Given the description of an element on the screen output the (x, y) to click on. 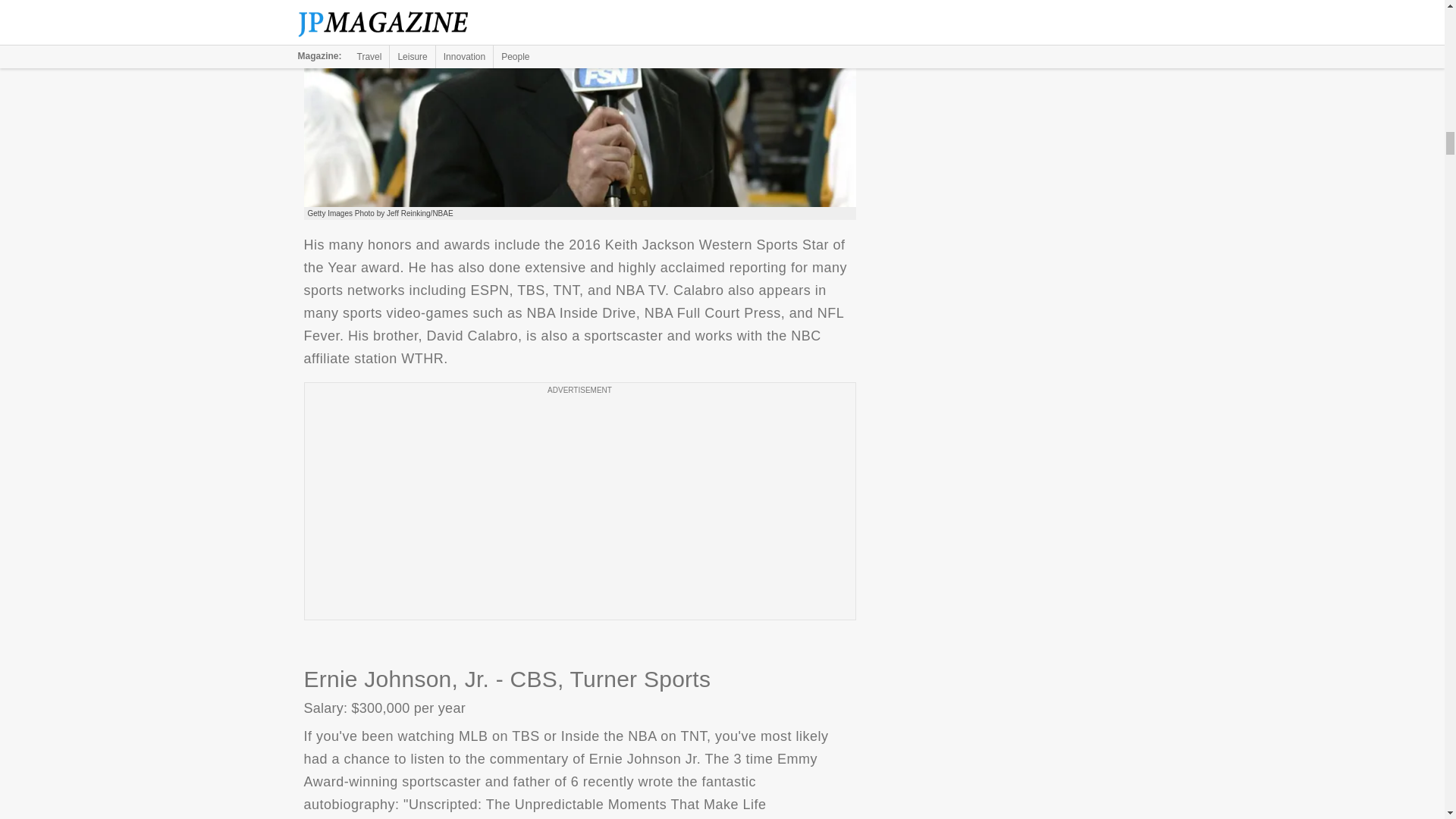
Kevin Calabro - ESPN (579, 103)
